Given the description of an element on the screen output the (x, y) to click on. 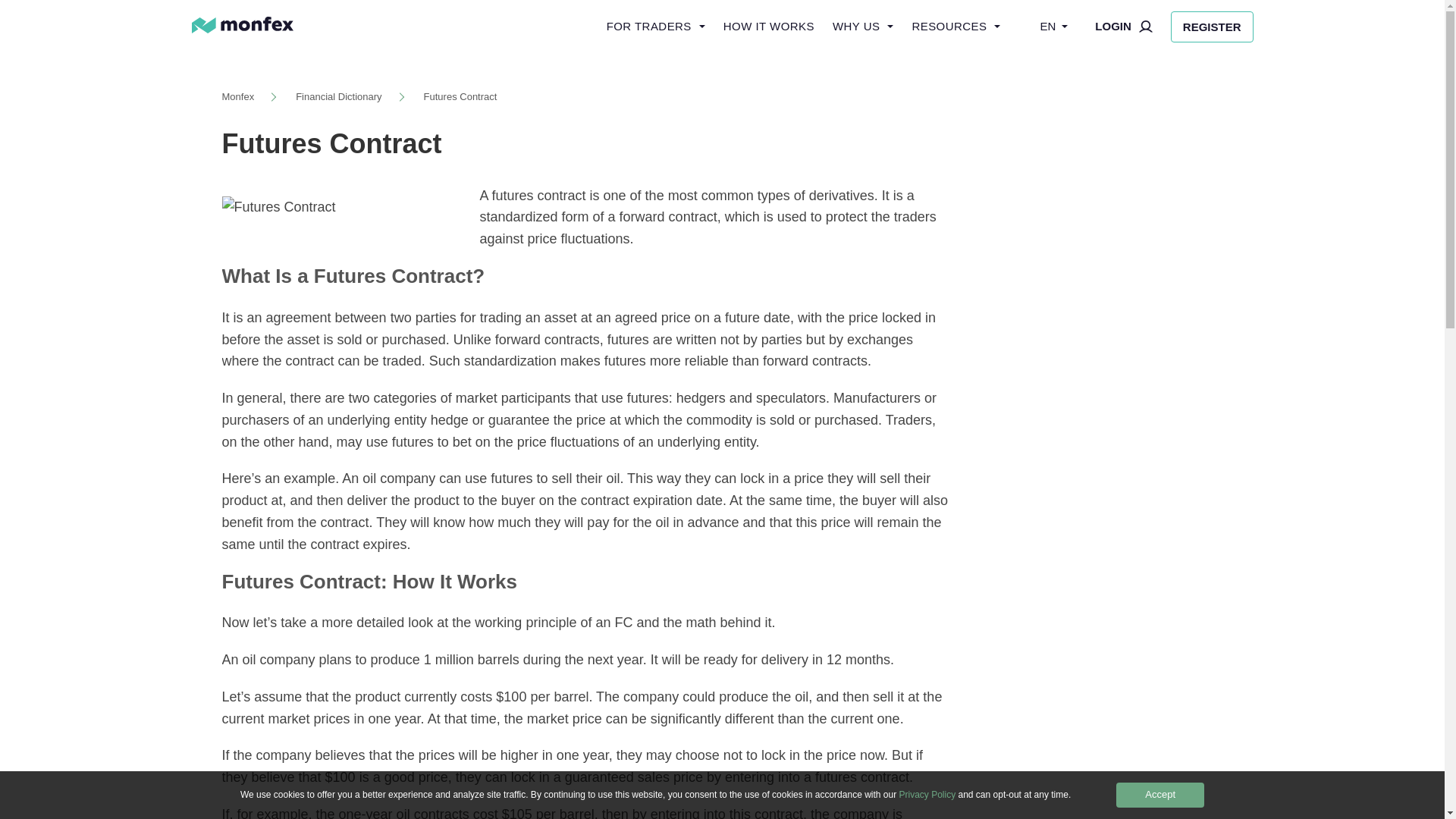
REGISTER (1211, 25)
Financial Dictionary (338, 97)
HOW IT WORKS (768, 26)
Monfex (237, 97)
LOGIN (1123, 26)
Futures Contract (460, 97)
